Given the description of an element on the screen output the (x, y) to click on. 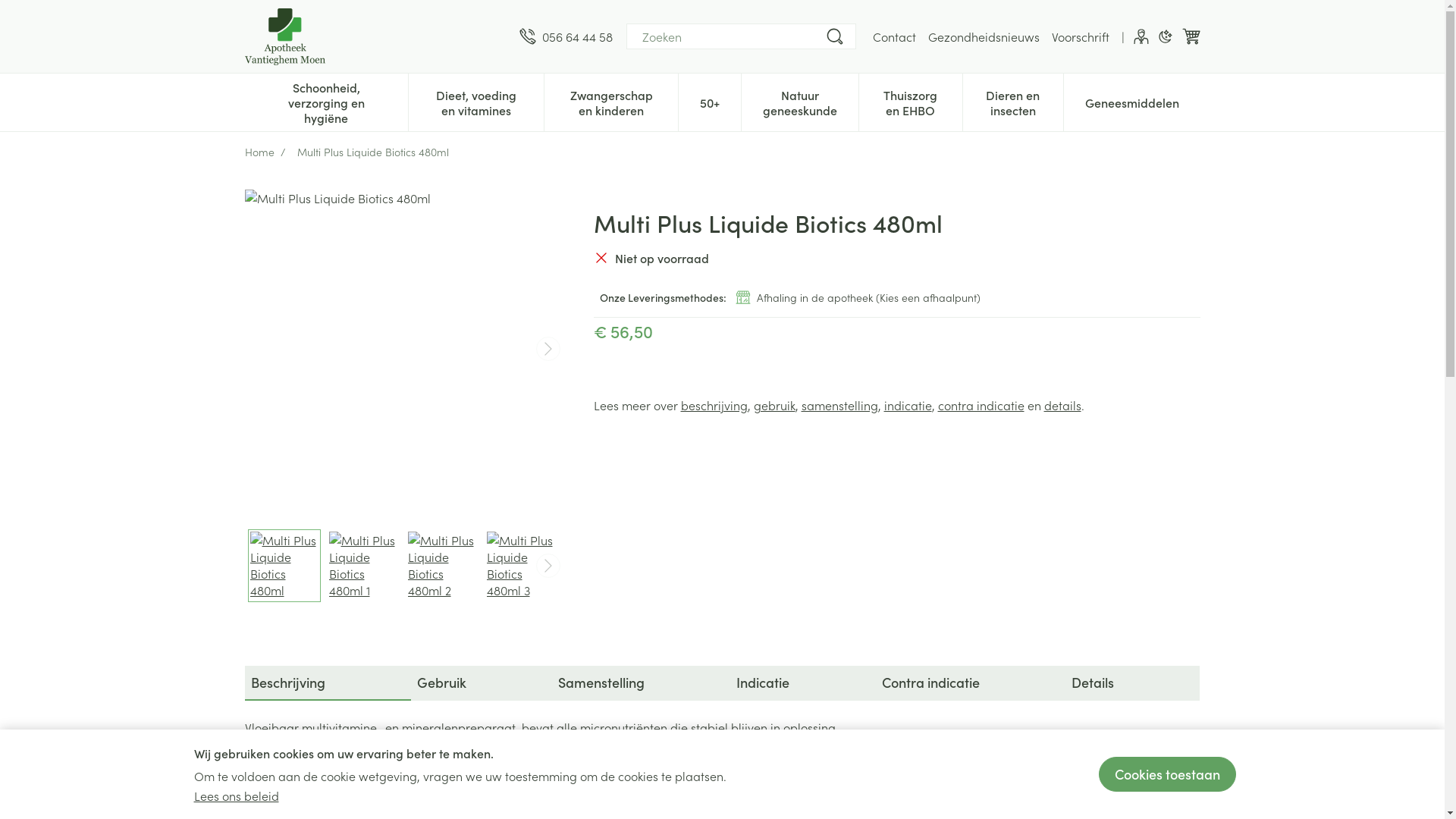
Multi Plus Liquide Biotics 480ml Element type: hover (284, 565)
Multi Plus Liquide Biotics 480ml 2 Element type: hover (441, 565)
Dieren en insecten Element type: text (1013, 100)
Multi Plus Liquide Biotics 480ml 3 Element type: hover (520, 565)
50+ Element type: text (709, 100)
Gezondheidsnieuws Element type: text (983, 36)
Apotheek Vantieghem-Moen-Heestert Element type: hover (375, 36)
Zwangerschap en kinderen Element type: text (610, 100)
Multi Plus Liquide Biotics 480ml Element type: hover (403, 348)
Cookies toestaan Element type: text (1166, 773)
Thuiszorg en EHBO Element type: text (910, 100)
Multi Plus Liquide Biotics 480ml 1 Element type: hover (363, 565)
Klant menu Element type: text (1140, 35)
Lees ons beleid Element type: text (236, 795)
Natuur geneeskunde Element type: text (799, 100)
Geneesmiddelen Element type: text (1131, 100)
Dieet, voeding en vitamines Element type: text (475, 100)
Winkelwagen Element type: text (1190, 36)
Contact Element type: text (893, 36)
Voorschrift Element type: text (1079, 36)
Apotheek Vantieghem-Moen-Heestert Element type: hover (284, 35)
Home Element type: text (258, 151)
056 64 44 58 Element type: text (564, 36)
Donkere modus Element type: text (1164, 35)
Zoeken Element type: text (834, 36)
